Given the description of an element on the screen output the (x, y) to click on. 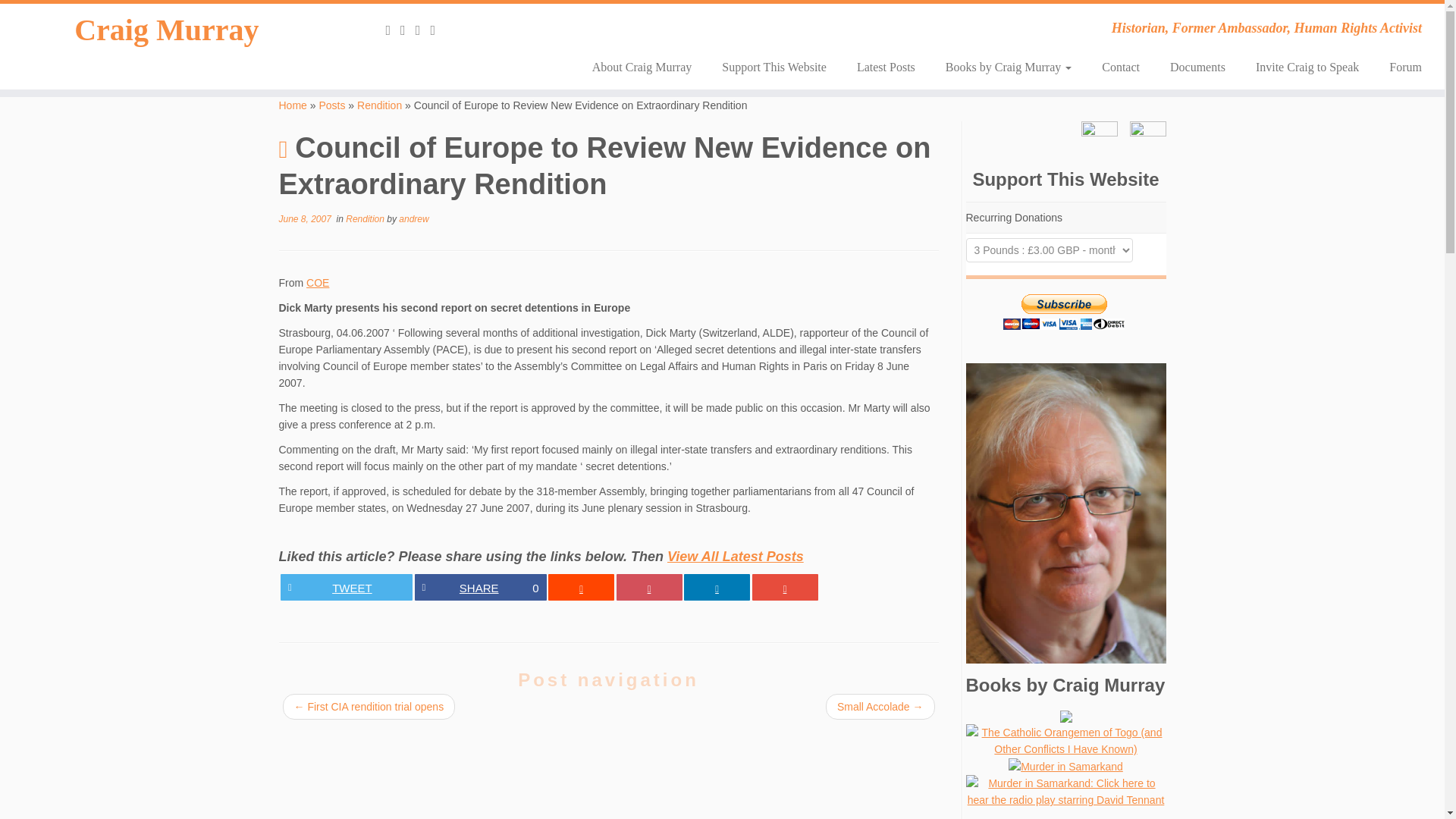
Contact (1120, 67)
Tweet on Twitter (346, 587)
Craig Murray (166, 30)
View all posts by andrew (413, 218)
View all posts in Rendition (366, 218)
Home (293, 105)
Rendition (378, 105)
Submit to Reddit (581, 587)
Rendition (378, 105)
Follow me on Facebook (437, 29)
